Given the description of an element on the screen output the (x, y) to click on. 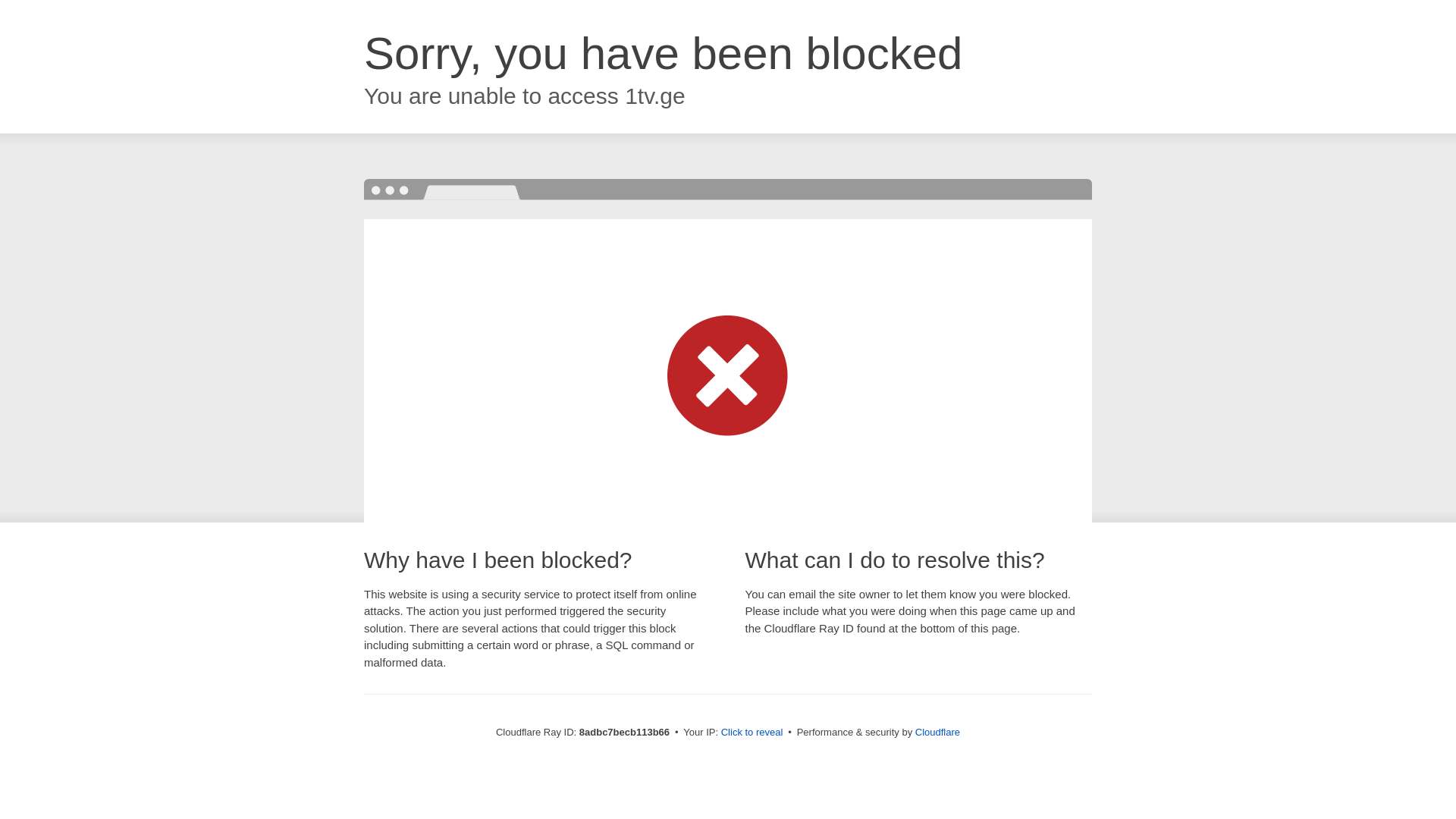
Click to reveal (751, 732)
Cloudflare (937, 731)
